Given the description of an element on the screen output the (x, y) to click on. 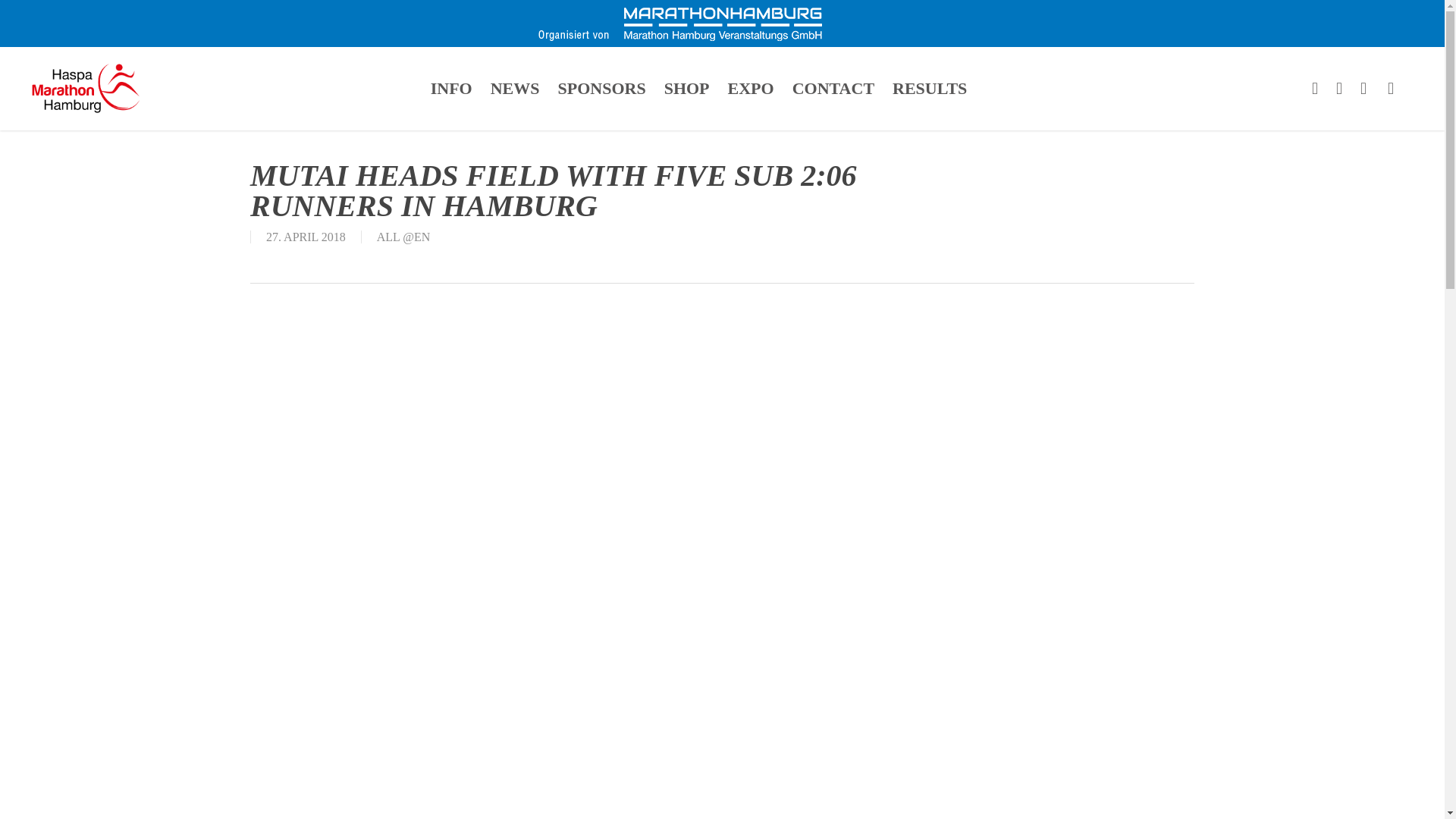
NEWS (514, 88)
SPONSORS (600, 88)
INFO (451, 88)
YOUTUBE (1363, 88)
INSTAGRAM (1391, 88)
TWITTER (1314, 88)
SHOP (687, 88)
EXPO (751, 88)
RESULTS (929, 88)
Open Cookie Preferences (32, 798)
CONTACT (833, 88)
